Given the description of an element on the screen output the (x, y) to click on. 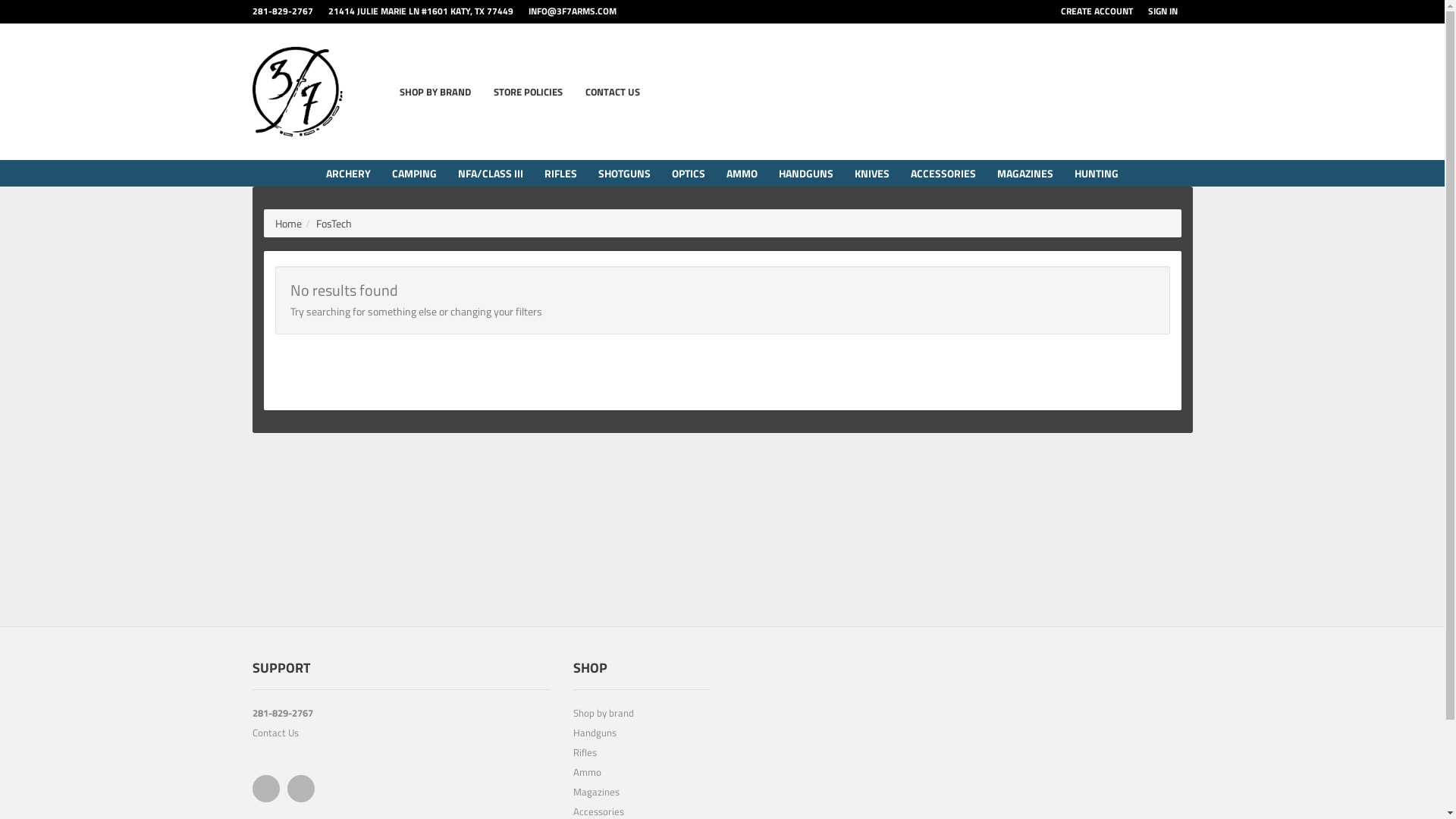
281-829-2767 Element type: text (400, 714)
Home Element type: text (287, 223)
Magazines Element type: text (642, 793)
ACCESSORIES Element type: text (943, 173)
CAMPING Element type: text (414, 173)
21414 JULIE MARIE LN #1601 KATY, TX 77449 Element type: text (427, 11)
STORE POLICIES Element type: text (528, 91)
Rifles Element type: text (642, 754)
281-829-2767 Element type: text (289, 11)
SIGN IN Element type: text (1170, 11)
SHOP BY BRAND Element type: text (435, 91)
CREATE ACCOUNT Element type: text (1103, 11)
CONTACT US Element type: text (612, 91)
INFO@3F7ARMS.COM Element type: text (578, 11)
OPTICS Element type: text (688, 173)
KNIVES Element type: text (872, 173)
Handguns Element type: text (642, 734)
SHOTGUNS Element type: text (624, 173)
HUNTING Element type: text (1096, 173)
ARCHERY Element type: text (348, 173)
RIFLES Element type: text (560, 173)
Shop by brand Element type: text (642, 714)
NFA/CLASS III Element type: text (490, 173)
Contact Us Element type: text (400, 734)
Ammo Element type: text (642, 774)
HANDGUNS Element type: text (806, 173)
AMMO Element type: text (741, 173)
MAGAZINES Element type: text (1024, 173)
